Given the description of an element on the screen output the (x, y) to click on. 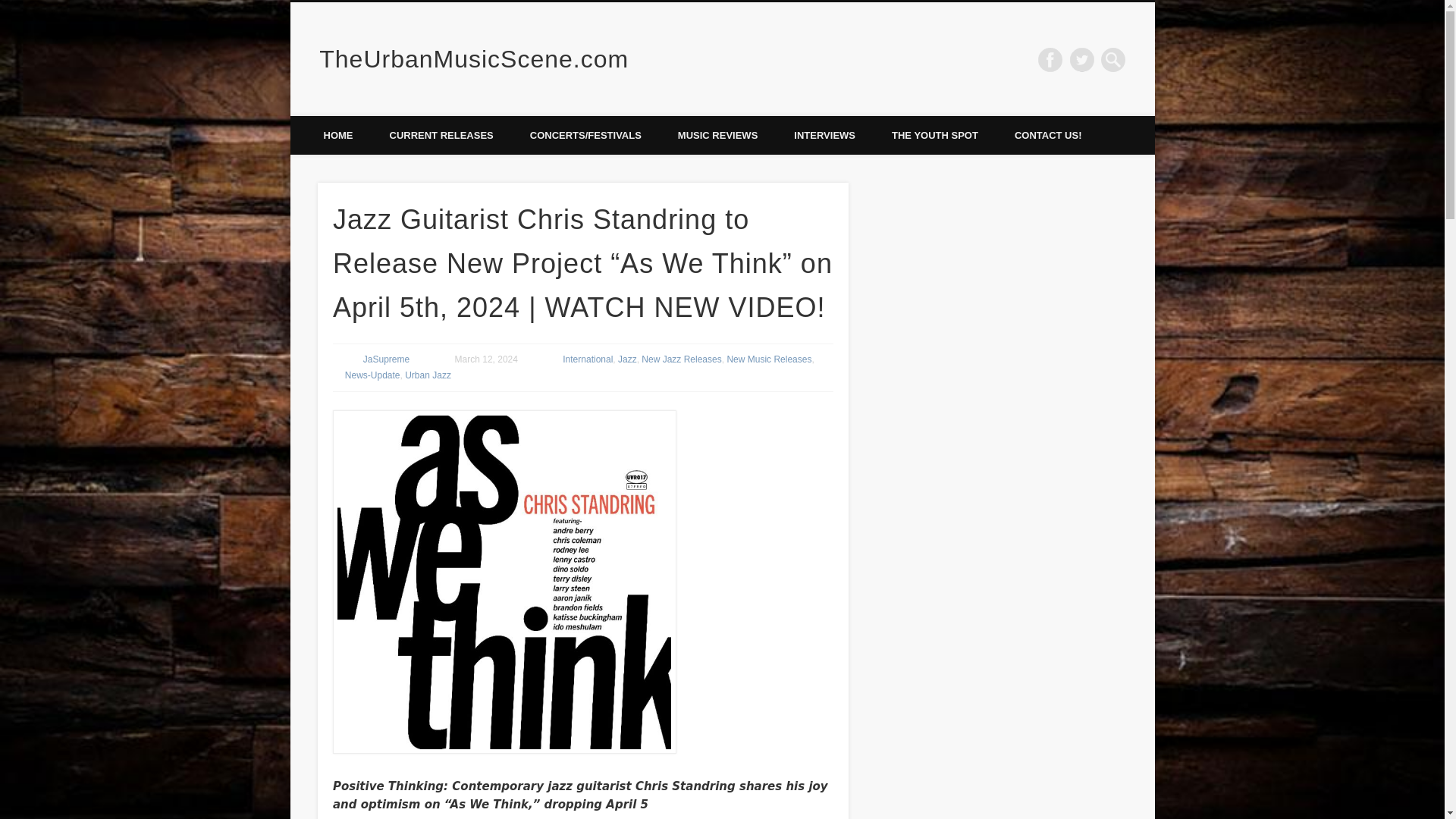
New Jazz Releases (681, 358)
HOME (337, 135)
CONTACT US! (1047, 135)
JaSupreme (385, 358)
TheUrbanMusicScene.com (473, 58)
THE YOUTH SPOT (934, 135)
Reach us at T.U.M.S.! (1047, 135)
Search (11, 7)
New Music! (441, 135)
Posts by JaSupreme (385, 358)
